Given the description of an element on the screen output the (x, y) to click on. 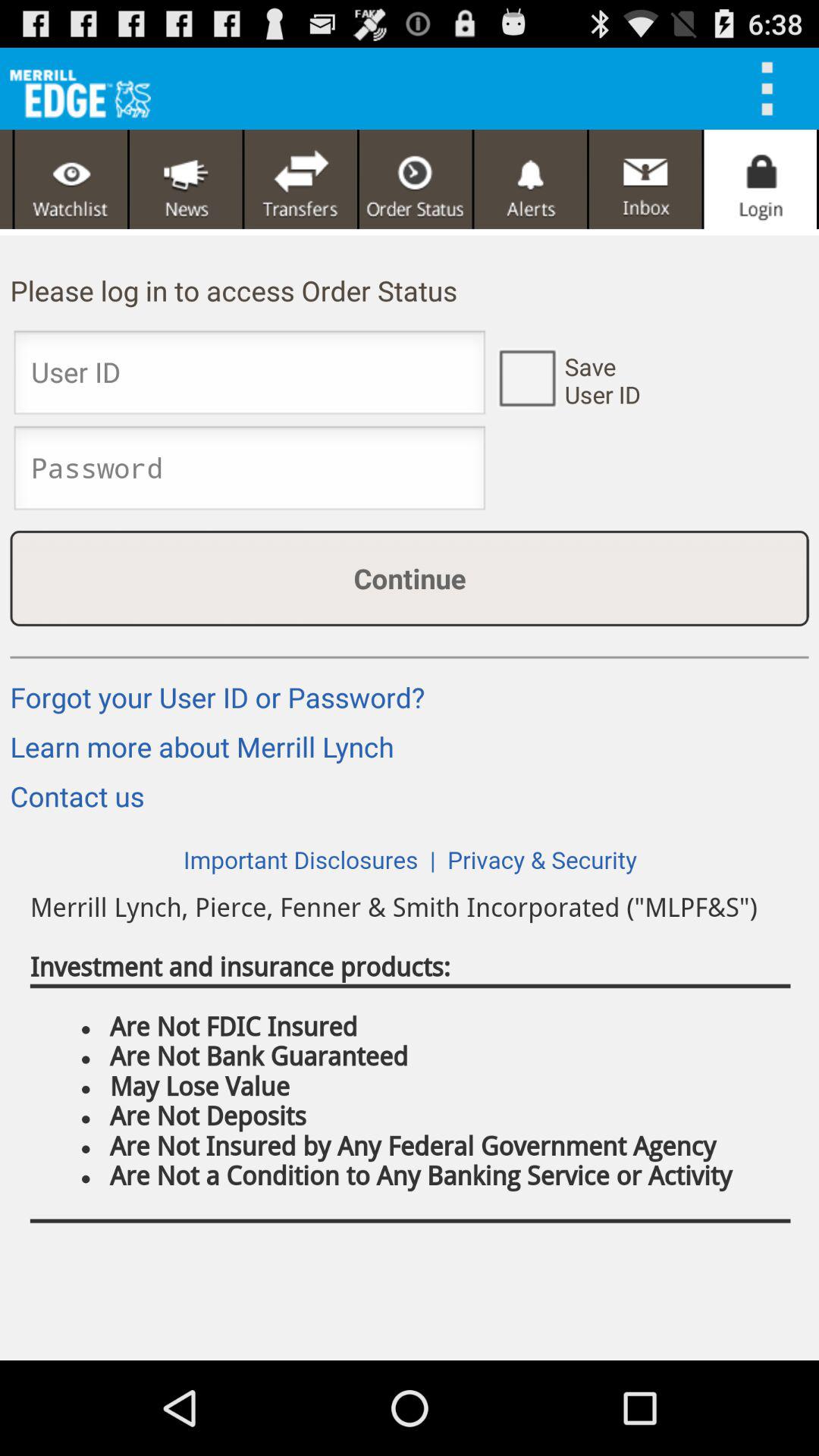
toggle alerts (530, 179)
